Given the description of an element on the screen output the (x, y) to click on. 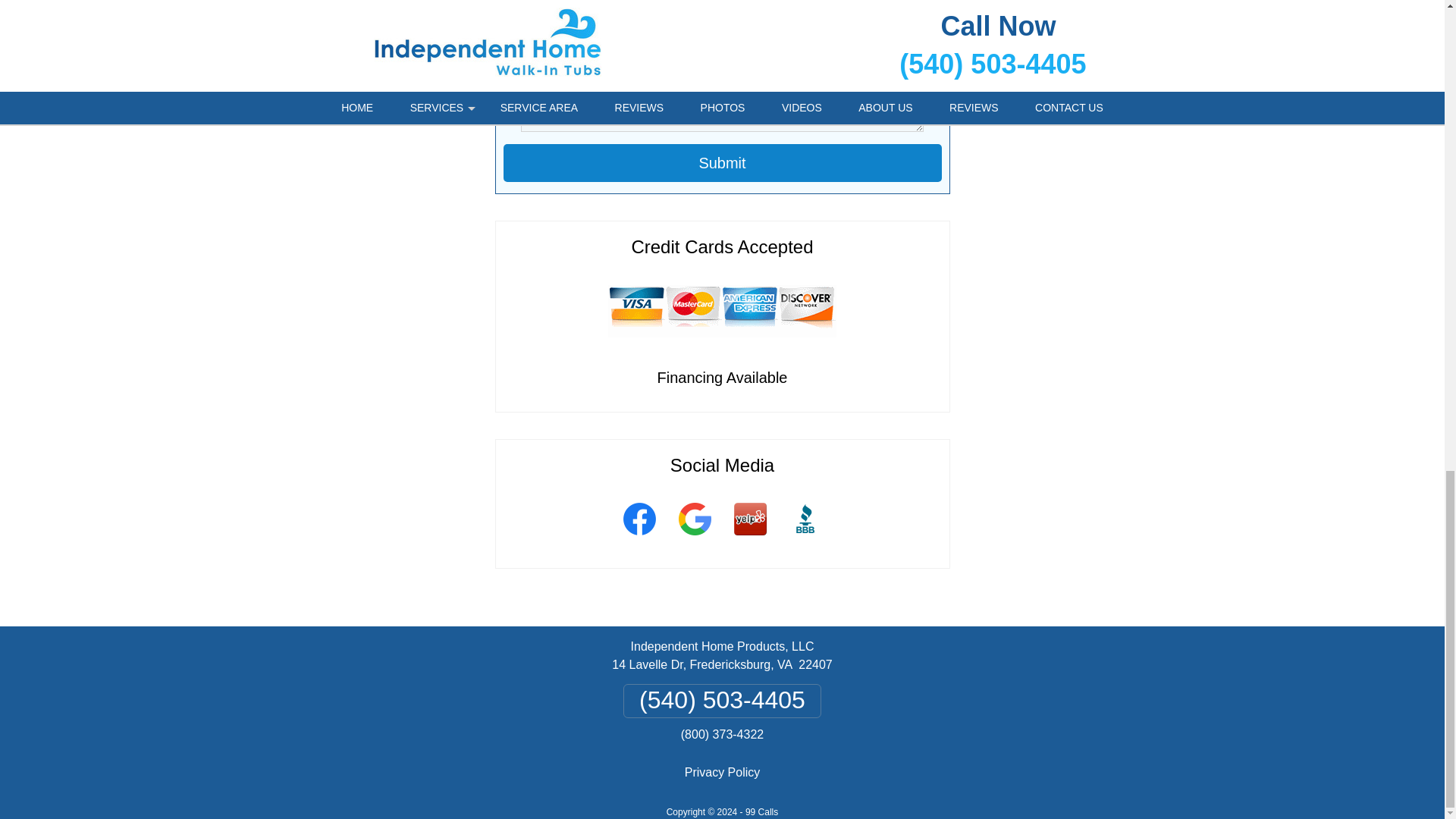
Google (694, 541)
Yelp (749, 541)
Facebook (638, 541)
Better Business Bureau (804, 541)
Submit (722, 162)
